Given the description of an element on the screen output the (x, y) to click on. 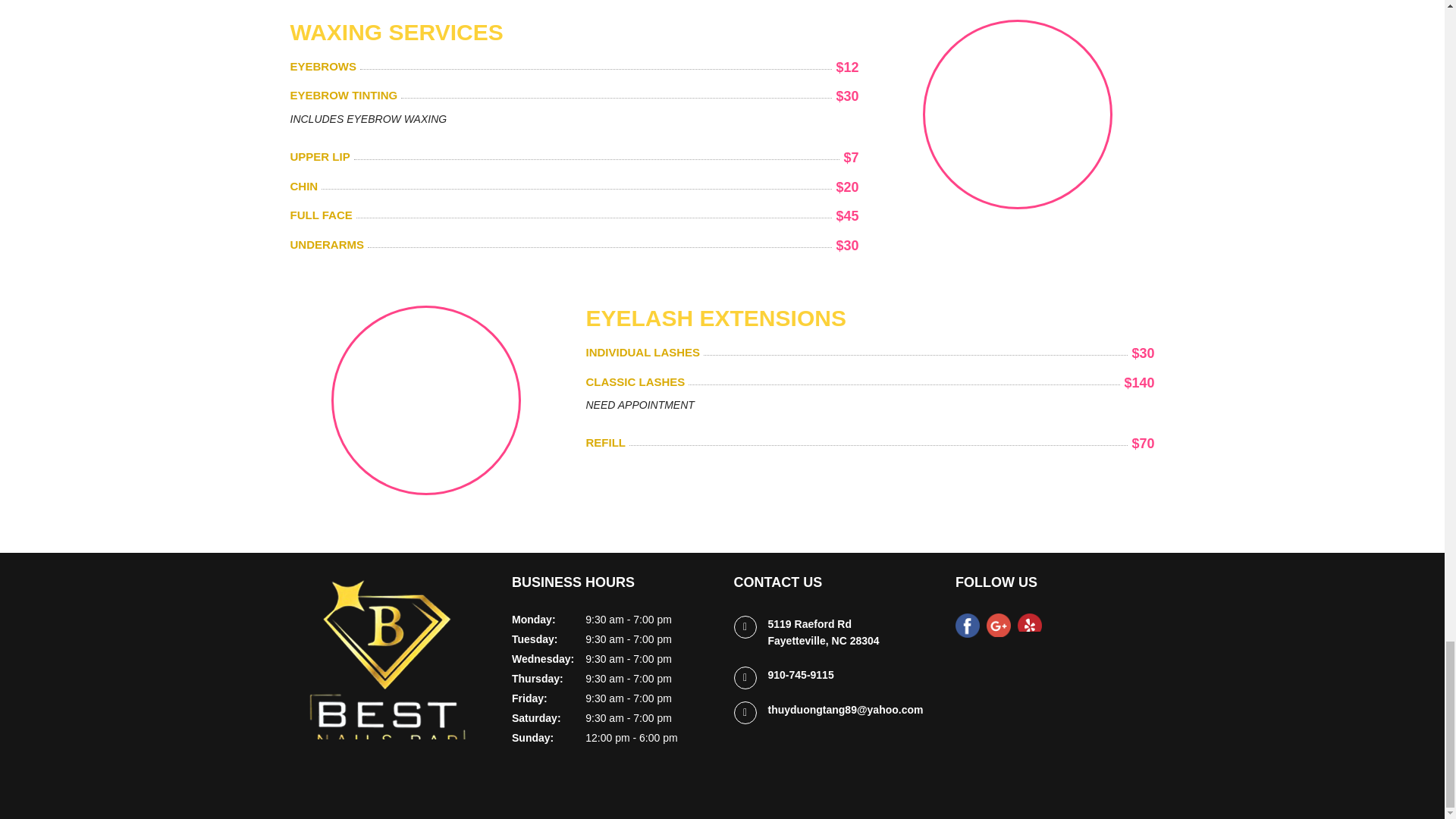
Facebook (971, 625)
Yelp (1031, 625)
Mail to us (850, 714)
Google plus (1002, 625)
Best Nails (386, 666)
910-745-9115 (805, 680)
Call Us (805, 680)
